Given the description of an element on the screen output the (x, y) to click on. 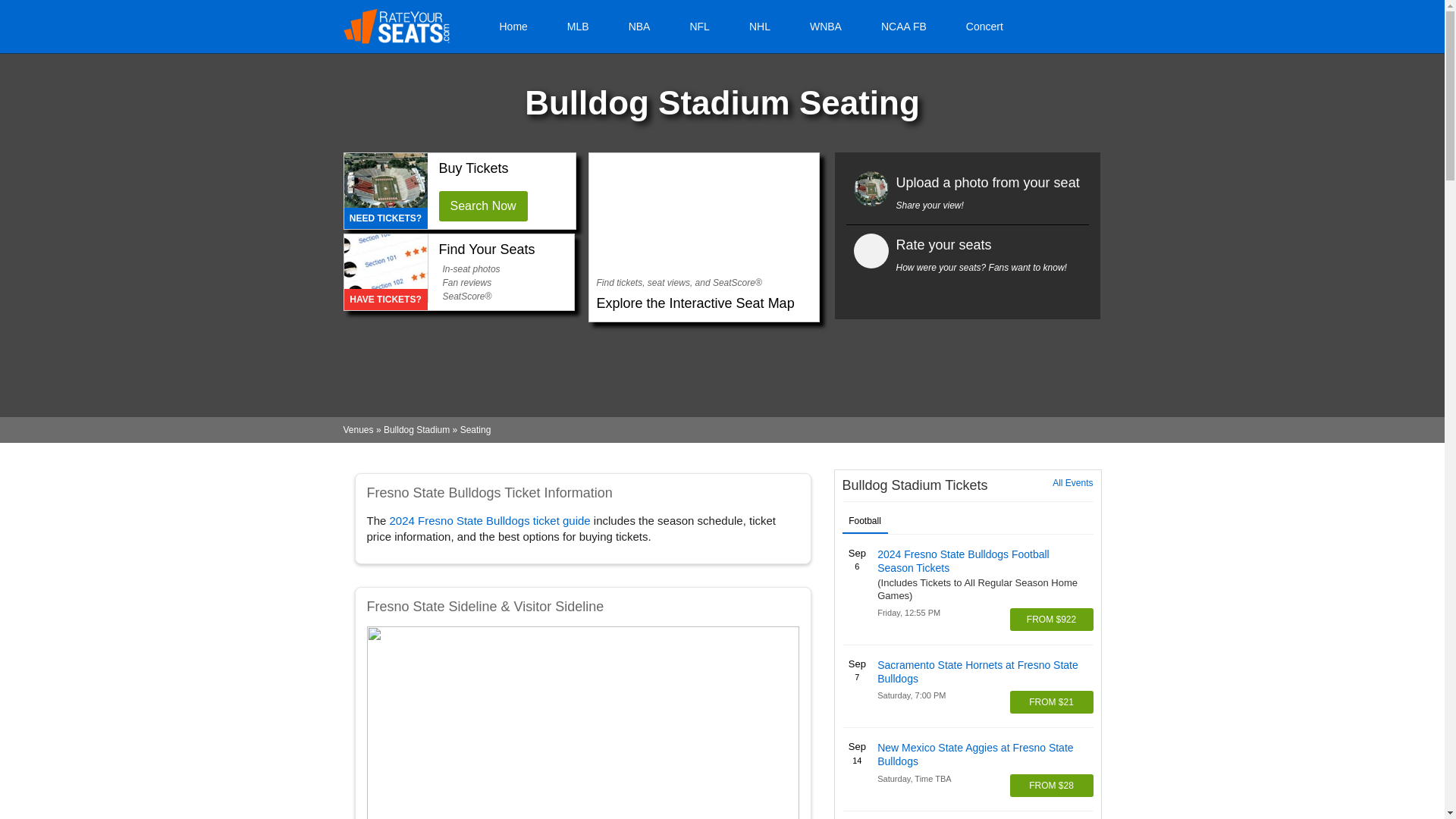
Venues (357, 429)
Search (1048, 25)
Bulldog Stadium (416, 429)
Upload a photo from your seat (988, 182)
2024 Fresno State Bulldogs ticket guide (490, 520)
Bulldog Stadium Interactive Seating Chart (702, 215)
Rate your seats (943, 244)
Search Now (482, 205)
